Given the description of an element on the screen output the (x, y) to click on. 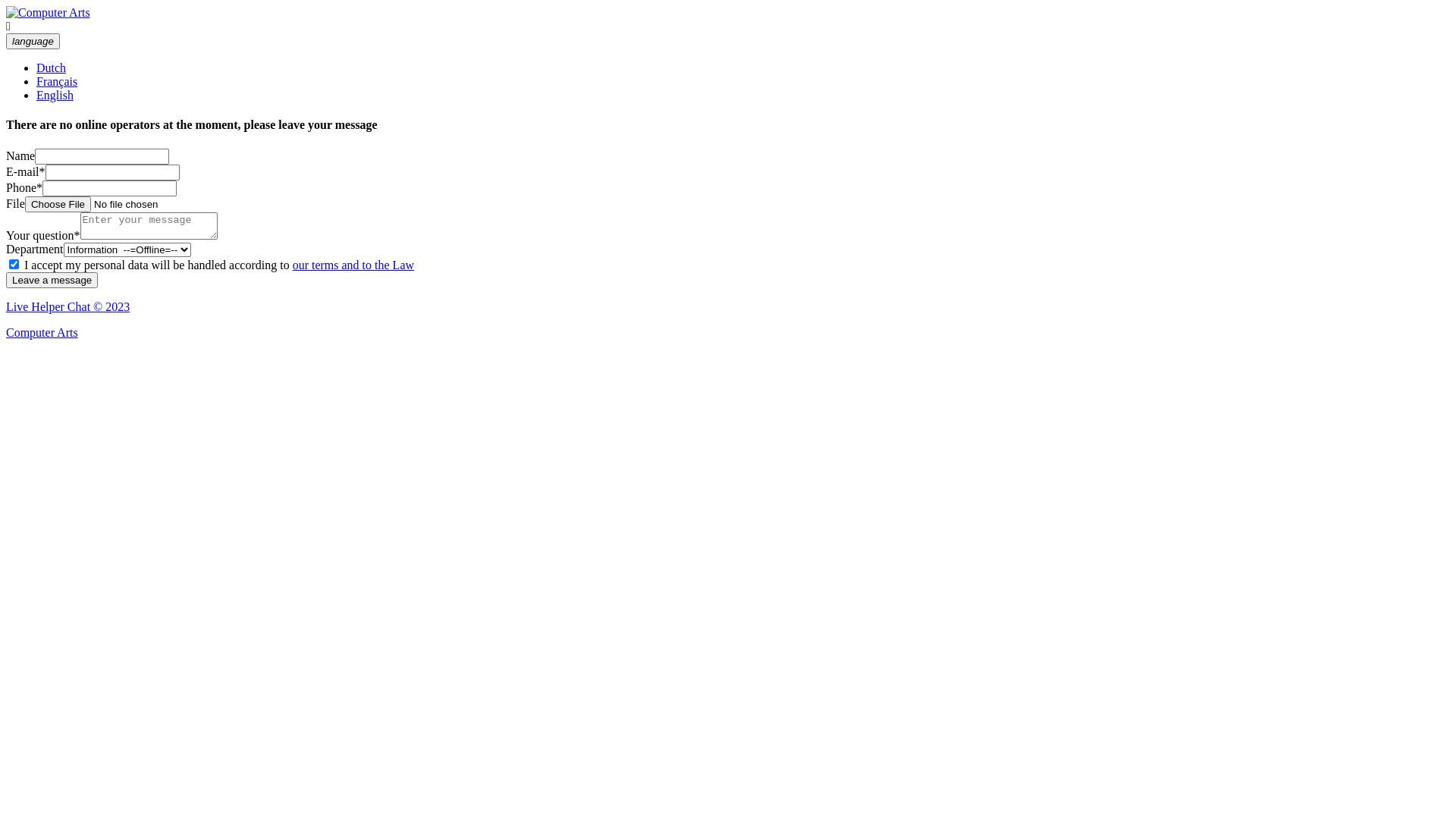
language Element type: text (32, 41)
Dutch Element type: text (50, 67)
Computer Arts Element type: hover (48, 12)
our terms and to the Law Element type: text (353, 264)
Computer Arts Element type: hover (48, 12)
Leave a message Element type: text (51, 280)
English Element type: text (54, 94)
Computer Arts Element type: text (42, 332)
